Given the description of an element on the screen output the (x, y) to click on. 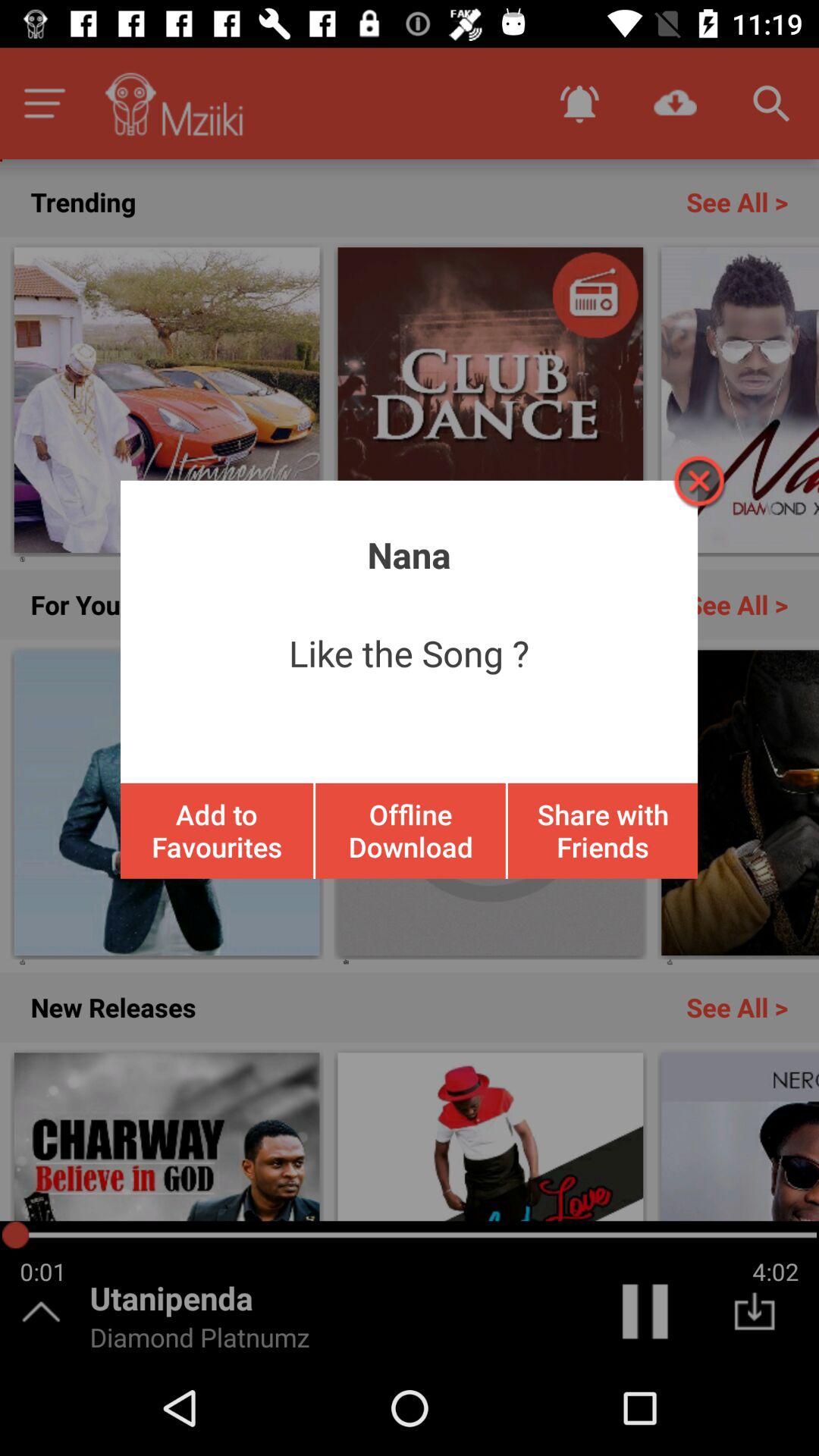
turn off offline download (410, 830)
